Given the description of an element on the screen output the (x, y) to click on. 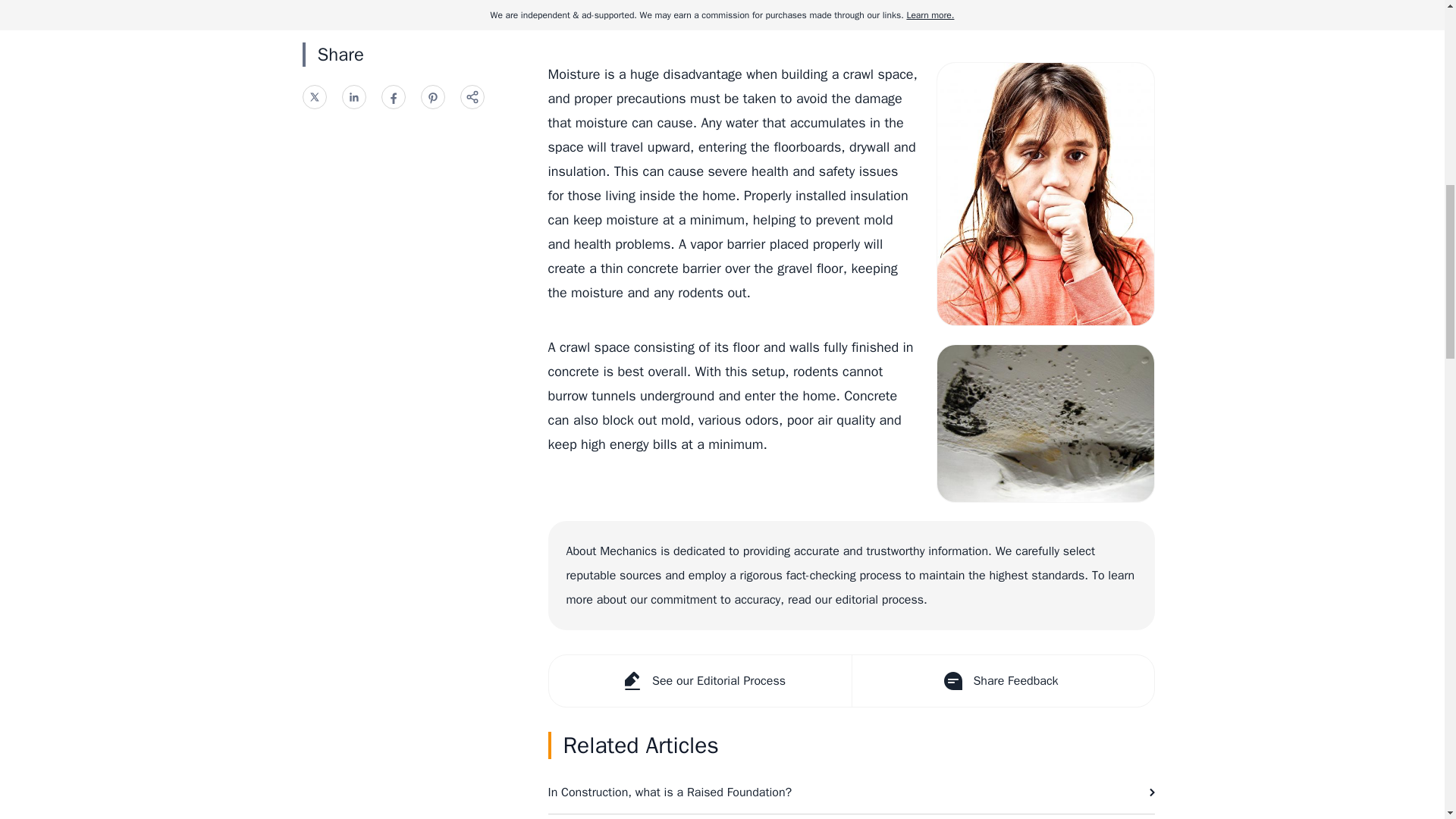
See our Editorial Process (699, 680)
In Construction, what is a Raised Foundation? (850, 792)
Share Feedback (1001, 680)
